Given the description of an element on the screen output the (x, y) to click on. 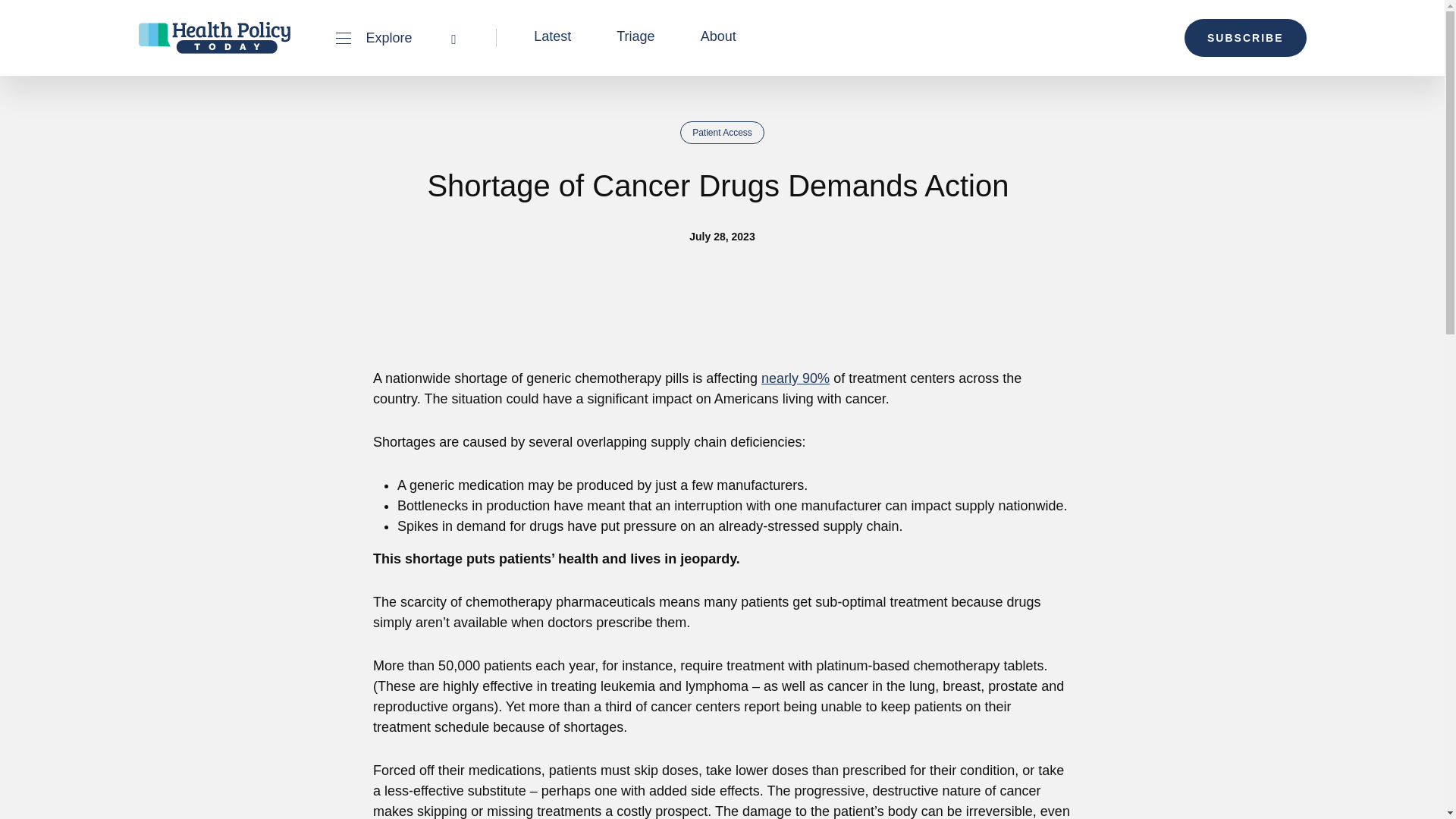
Triage (635, 36)
About (718, 36)
SUBSCRIBE (1245, 37)
Latest (552, 36)
Patient Access (721, 132)
